Given the description of an element on the screen output the (x, y) to click on. 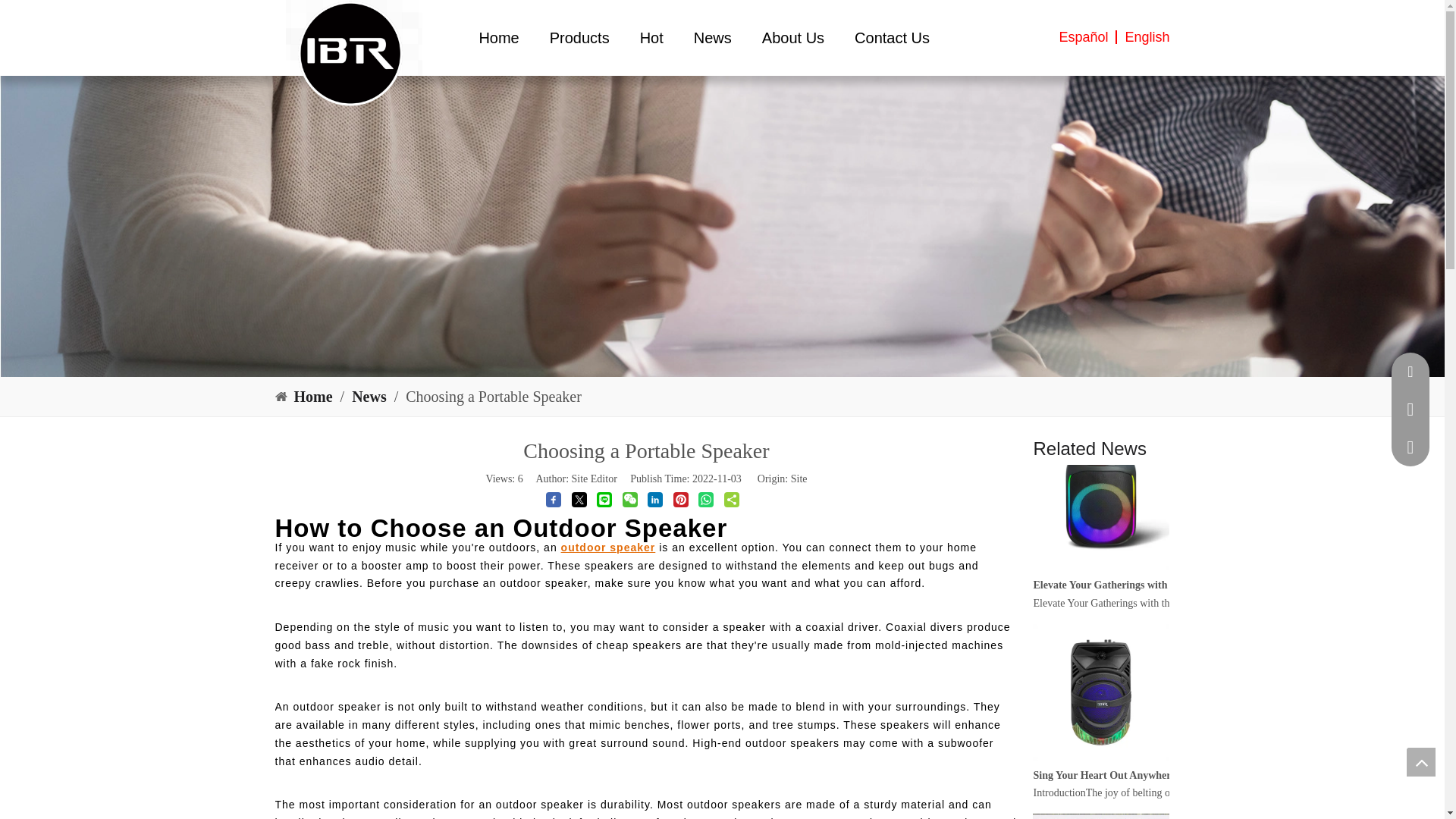
Contact Us (892, 38)
Site (799, 478)
News (371, 396)
Home (315, 396)
outdoor speaker (608, 547)
